Given the description of an element on the screen output the (x, y) to click on. 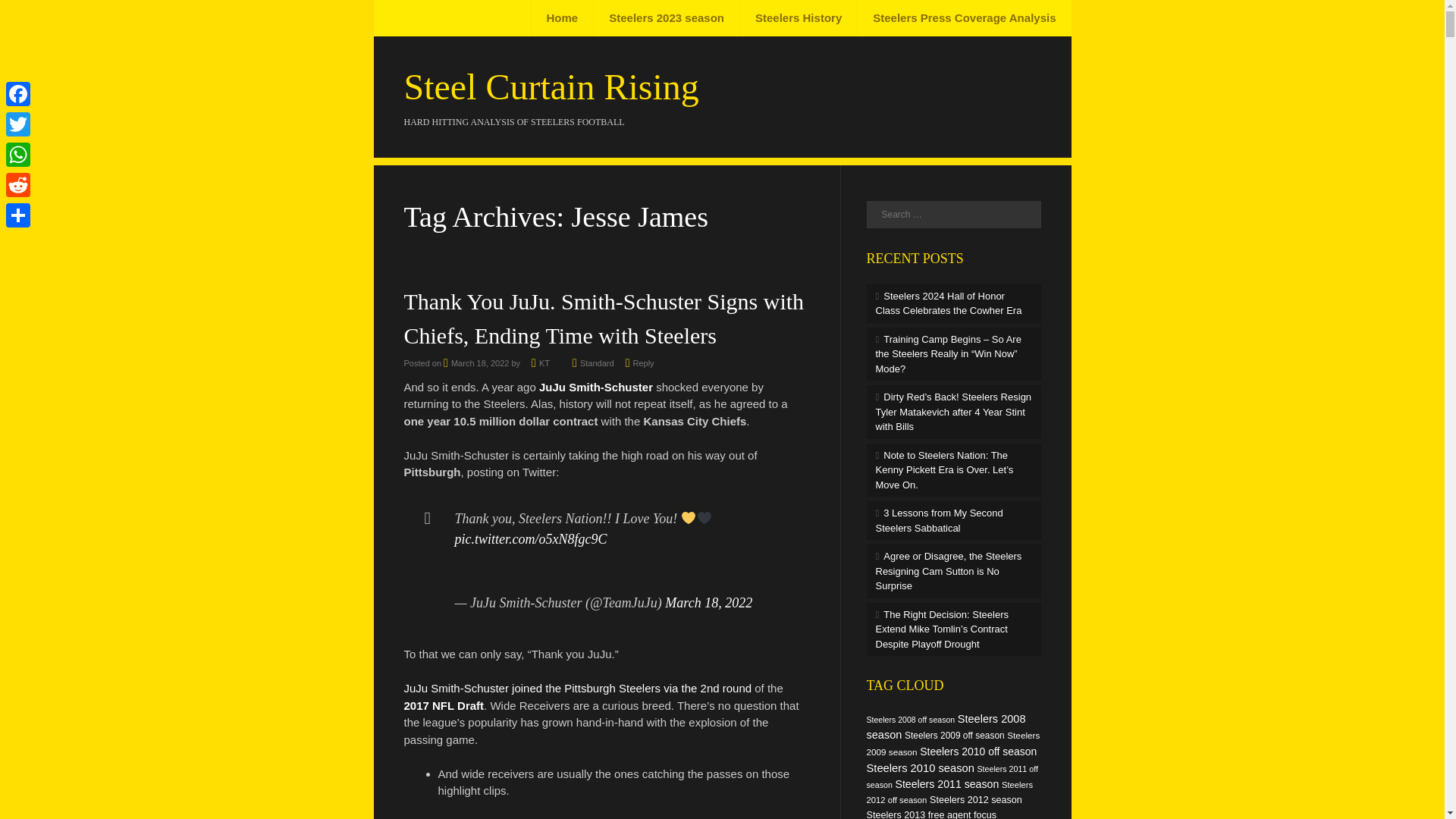
View all posts by KT (544, 362)
JuJu Smith-Schuster (595, 386)
March 18, 2022 (476, 362)
Reply (642, 362)
Steel Curtain Rising (550, 86)
Steelers History (798, 18)
Skip to content (429, 18)
Home (562, 18)
KT (544, 362)
Permalink to  (596, 362)
2017 NFL Draft (443, 705)
Steel Curtain Rising (550, 86)
Steelers 2023 season (665, 18)
